Given the description of an element on the screen output the (x, y) to click on. 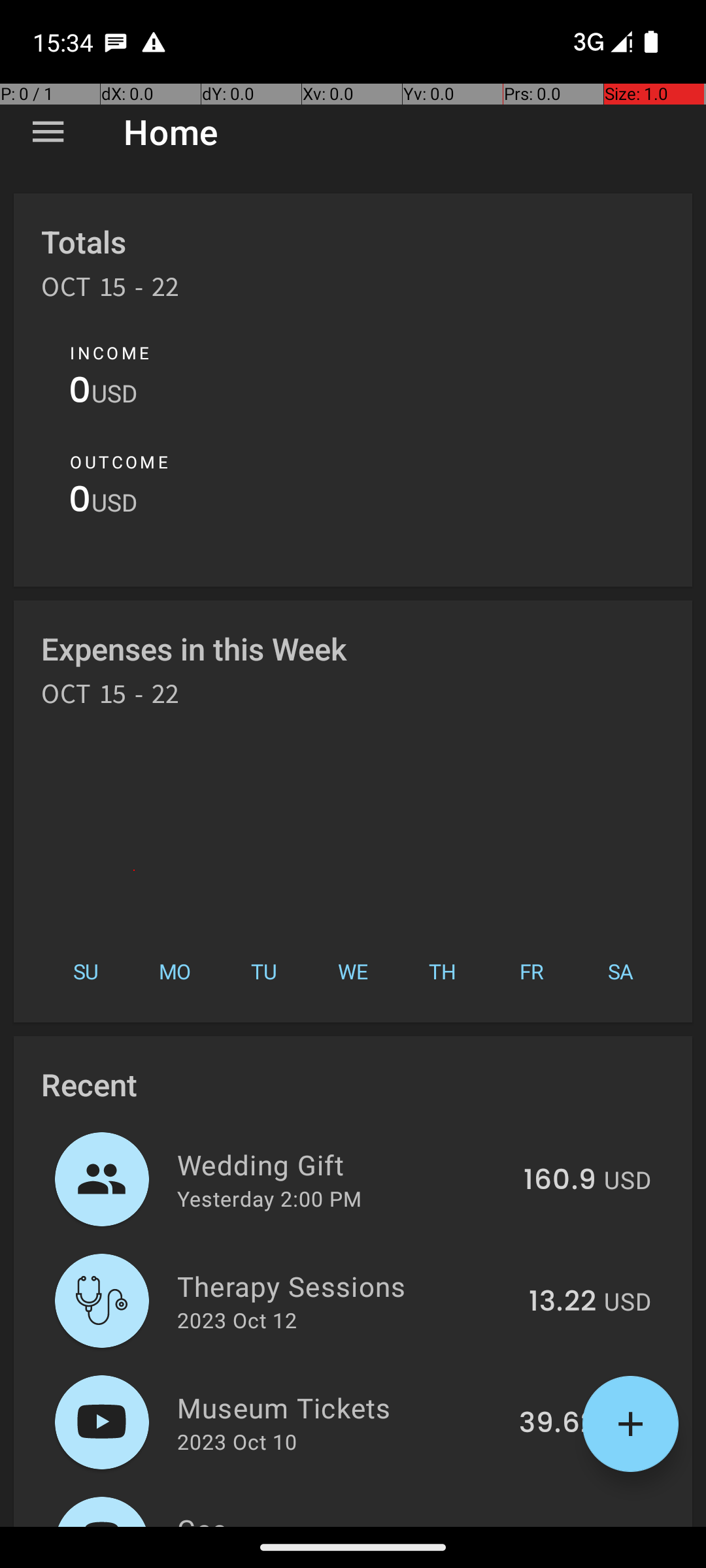
Wedding Gift Element type: android.widget.TextView (342, 1164)
Yesterday 2:00 PM Element type: android.widget.TextView (269, 1198)
160.9 Element type: android.widget.TextView (559, 1180)
Therapy Sessions Element type: android.widget.TextView (345, 1285)
2023 Oct 12 Element type: android.widget.TextView (236, 1320)
13.22 Element type: android.widget.TextView (562, 1301)
Museum Tickets Element type: android.widget.TextView (340, 1407)
2023 Oct 10 Element type: android.widget.TextView (236, 1441)
39.62 Element type: android.widget.TextView (557, 1423)
Gas Element type: android.widget.TextView (344, 1518)
102.3 Element type: android.widget.TextView (561, 1524)
